Given the description of an element on the screen output the (x, y) to click on. 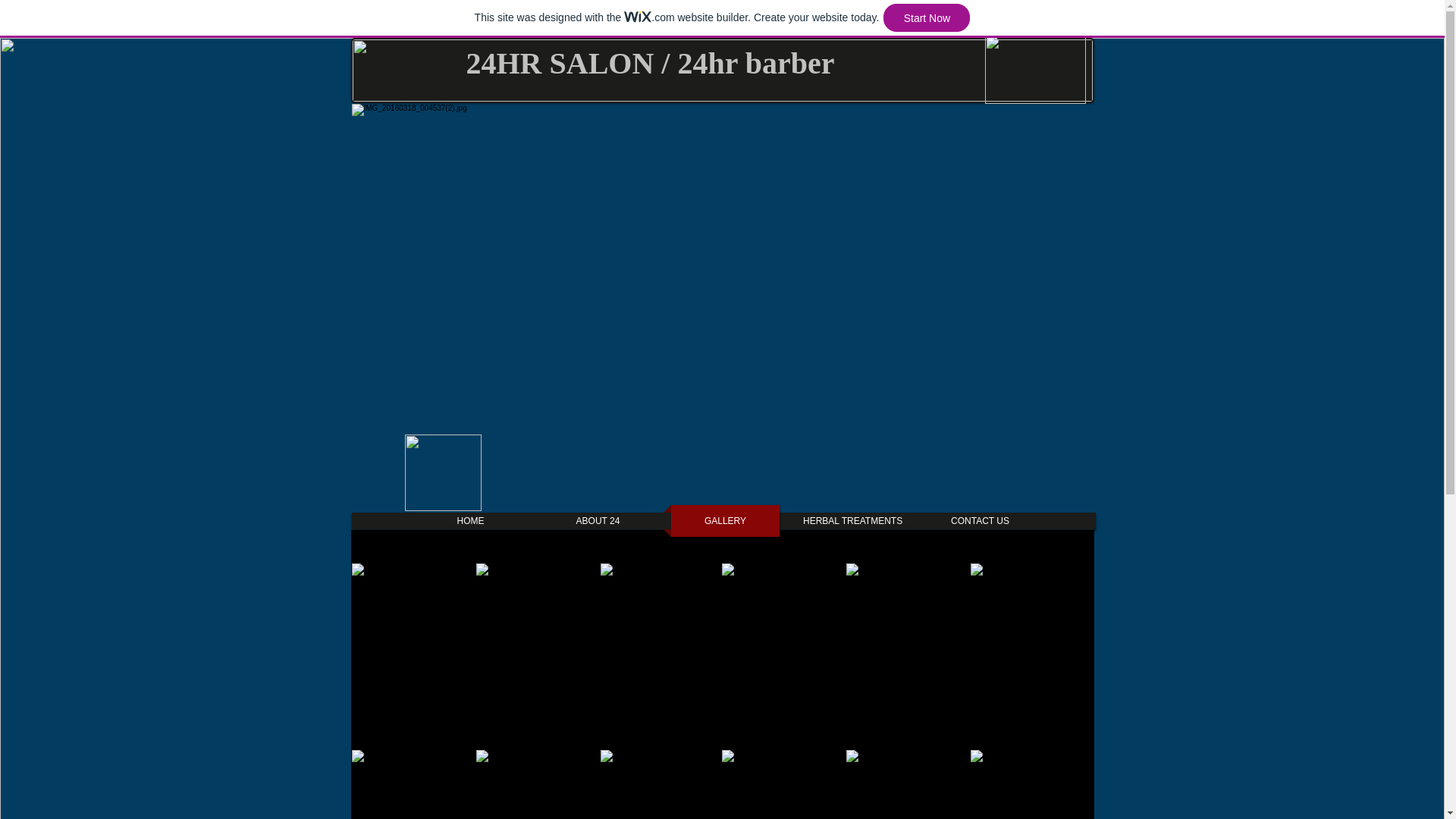
HERBAL TREATMENTS Element type: text (852, 520)
HOME Element type: text (470, 520)
GALLERY Element type: text (725, 520)
ABOUT 24 Element type: text (597, 520)
CONTACT US Element type: text (979, 520)
